Given the description of an element on the screen output the (x, y) to click on. 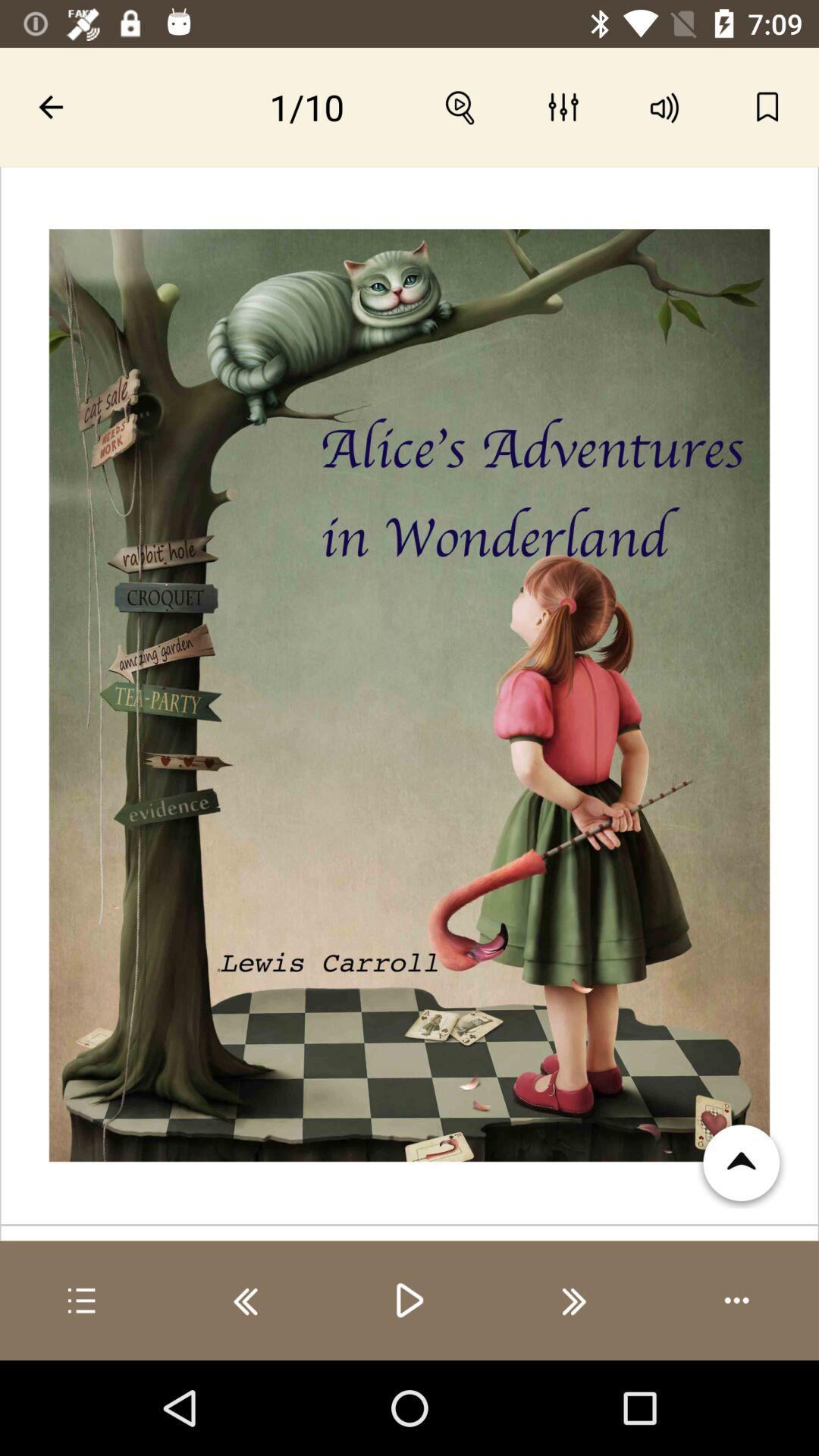
bookmark option (767, 106)
